Given the description of an element on the screen output the (x, y) to click on. 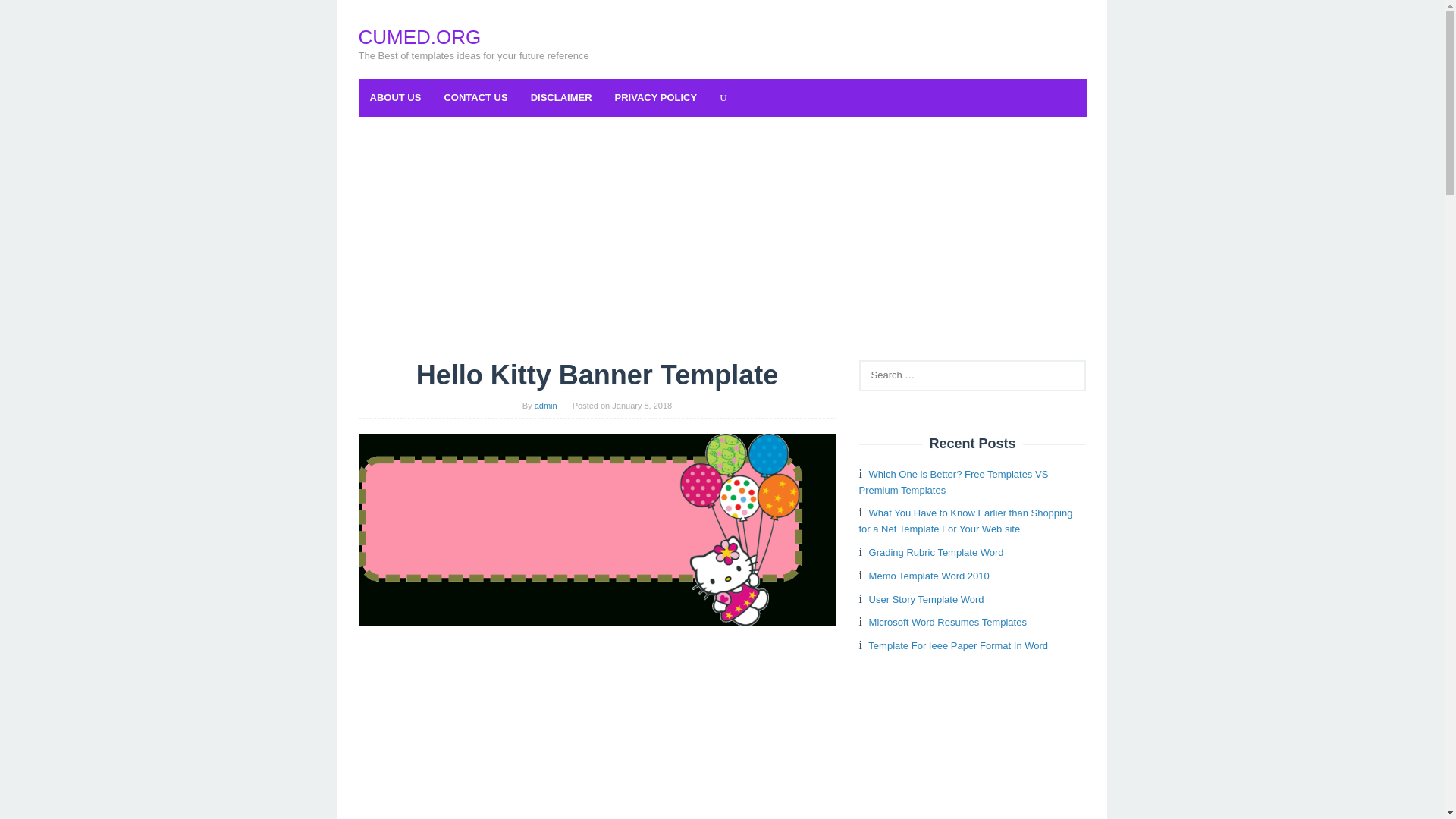
DISCLAIMER (561, 97)
CONTACT US (475, 97)
Which One is Better? Free Templates VS Premium Templates (953, 482)
ABOUT US (395, 97)
Memo Template Word 2010 (929, 575)
CUMED.ORG (419, 36)
Search (27, 15)
PRIVACY POLICY (656, 97)
admin (545, 405)
